Given the description of an element on the screen output the (x, y) to click on. 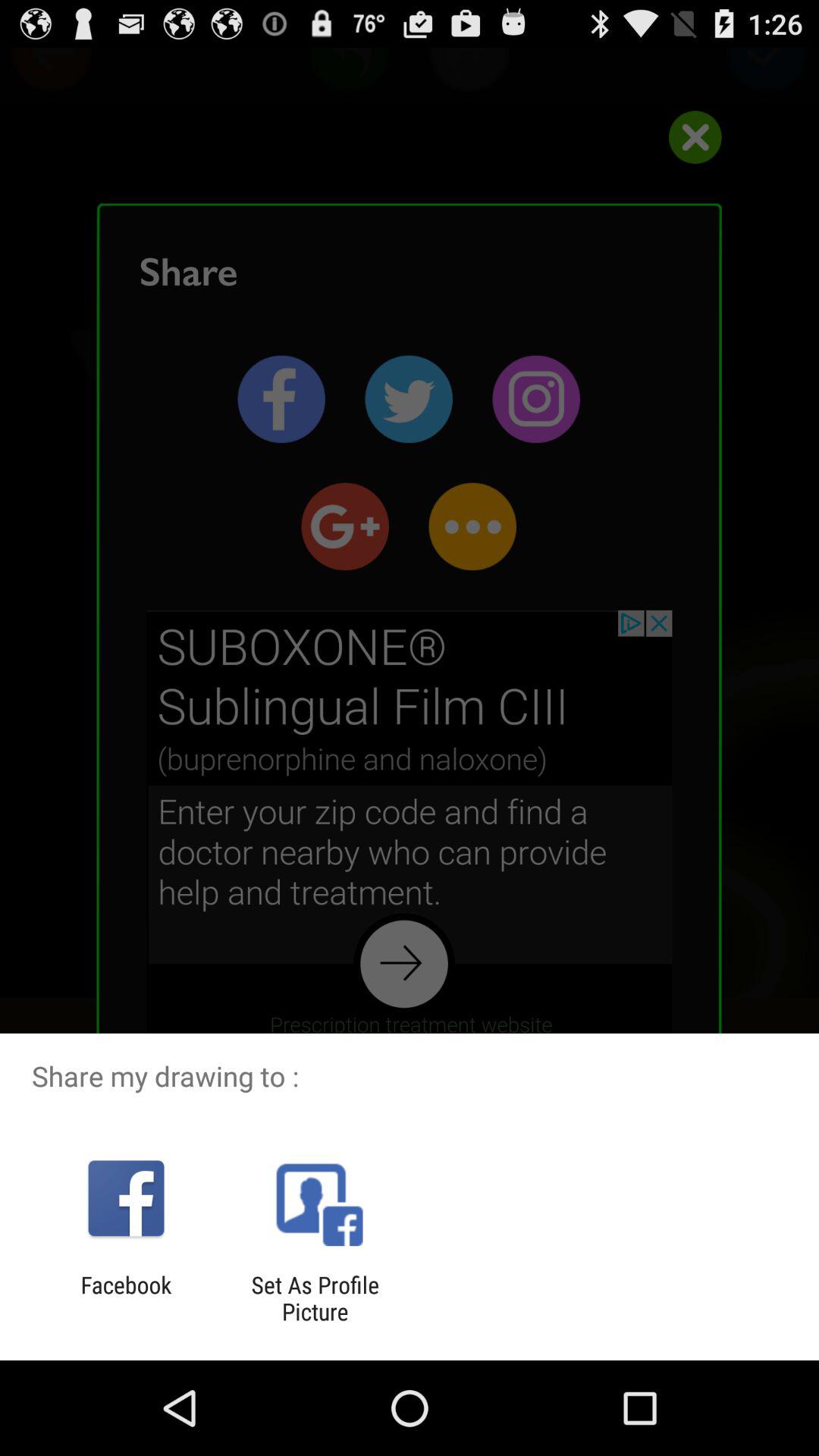
scroll until the facebook item (125, 1298)
